Given the description of an element on the screen output the (x, y) to click on. 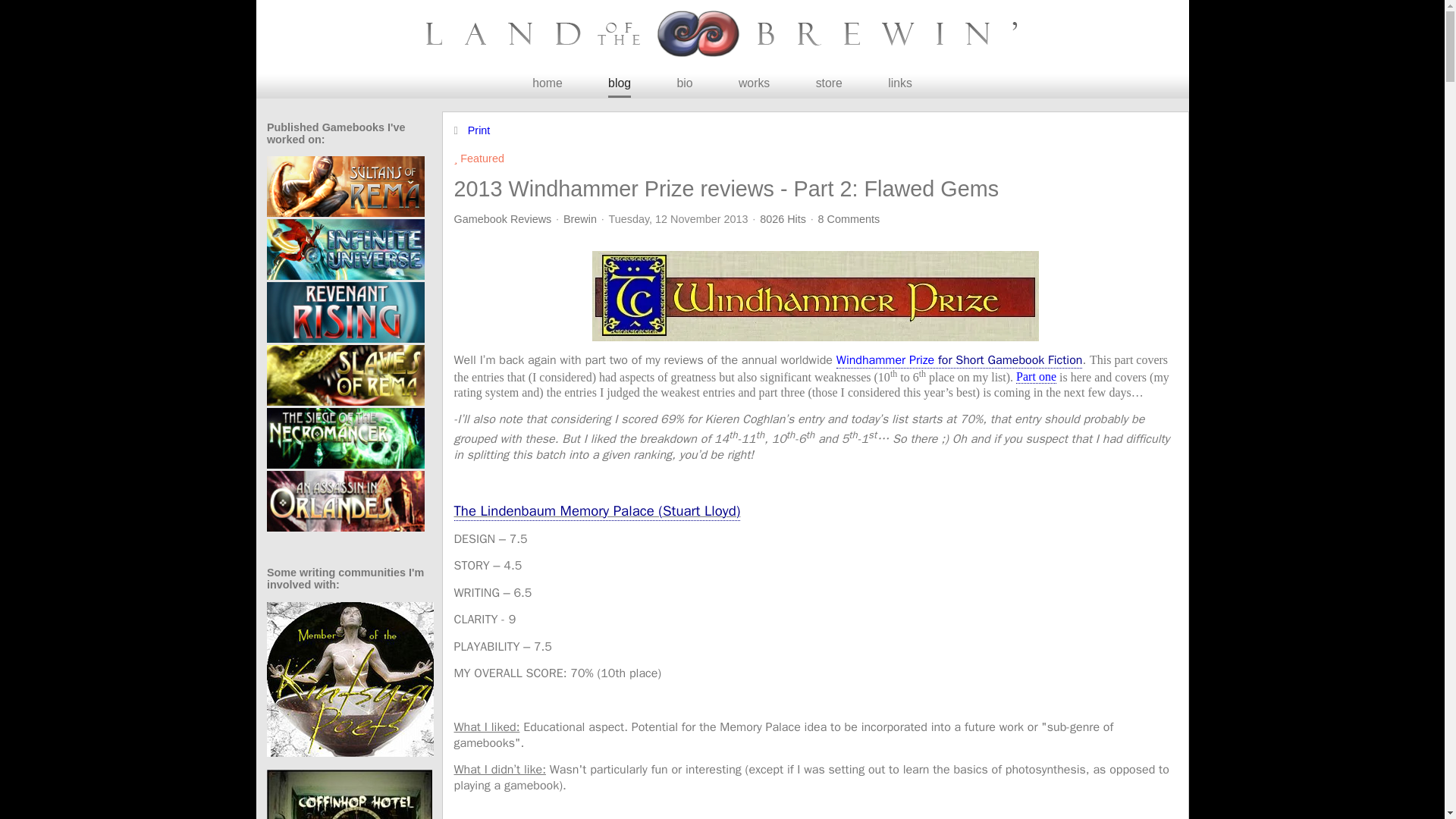
Windhammer Prize for Short Gamebook Fiction (959, 360)
store (829, 82)
Brewin (579, 218)
works (754, 82)
Gamebook Reviews (501, 218)
Windhammer Prize for Short Gamebook Fiction (959, 360)
Print (478, 130)
8 Comments (849, 218)
Part one (1036, 377)
home (547, 82)
